Given the description of an element on the screen output the (x, y) to click on. 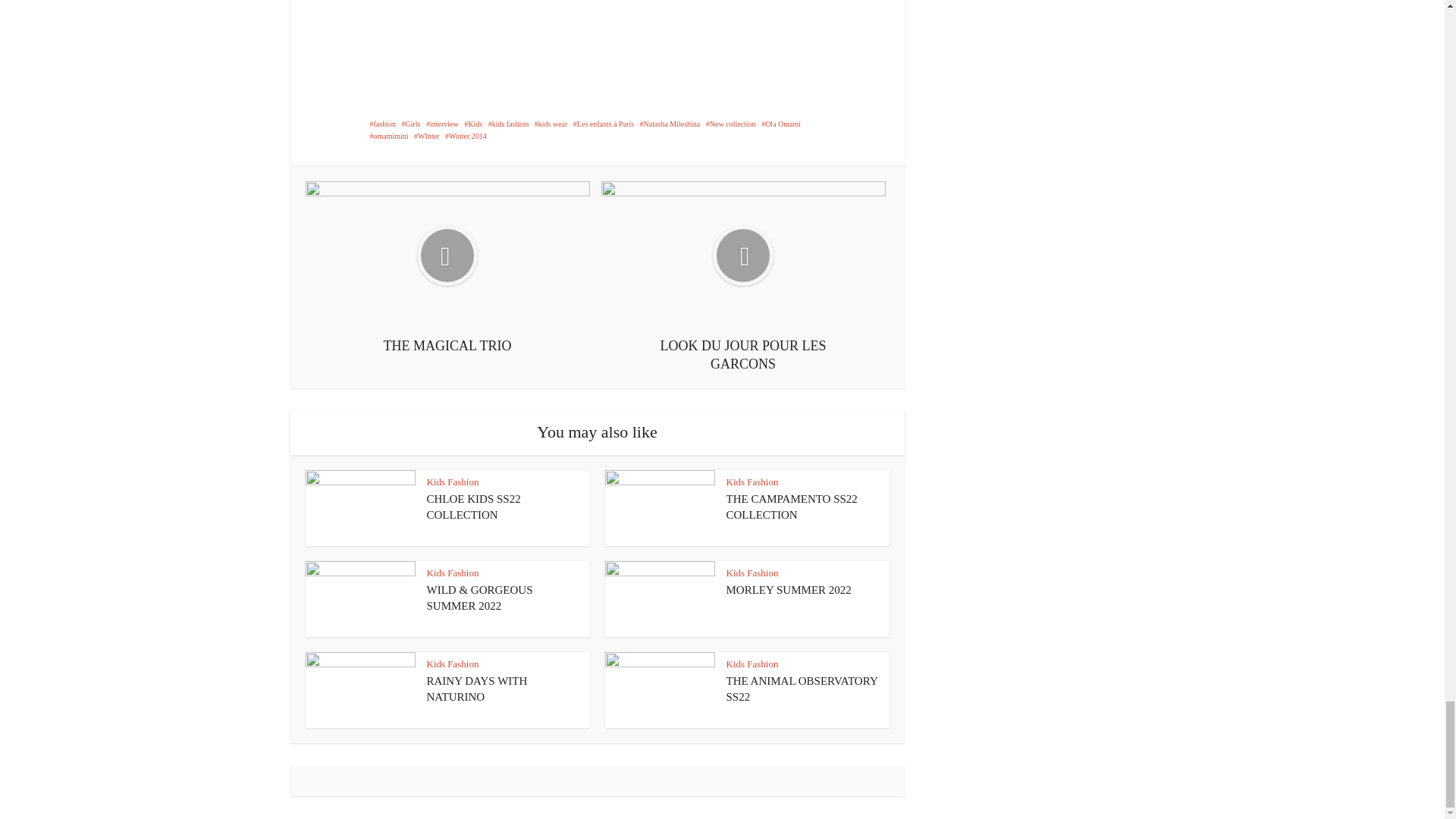
fashion (382, 123)
RAINY DAYS WITH NATURINO (476, 687)
THE CAMPAMENTO SS22 COLLECTION (791, 506)
MORLEY SUMMER 2022 (788, 589)
THE ANIMAL OBSERVATORY SS22 (801, 687)
CHLOE KIDS SS22 COLLECTION (472, 506)
